Given the description of an element on the screen output the (x, y) to click on. 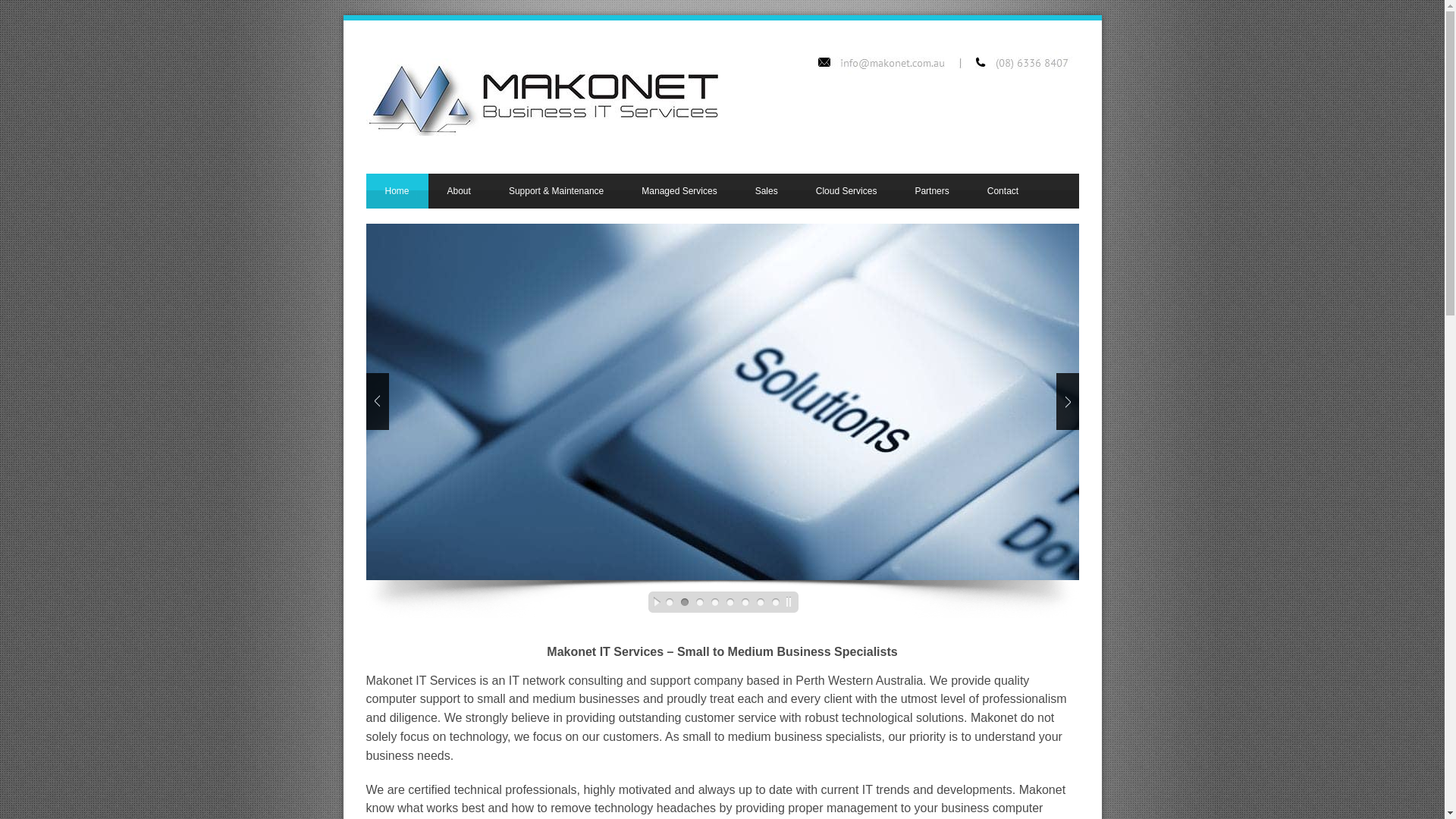
Partners Element type: text (931, 190)
About Element type: text (458, 190)
Support & Maintenance Element type: text (555, 190)
Sales Element type: text (766, 190)
Home Element type: text (396, 190)
Managed Services Element type: text (678, 190)
Cloud Services Element type: text (846, 190)
Contact Element type: text (1002, 190)
